Given the description of an element on the screen output the (x, y) to click on. 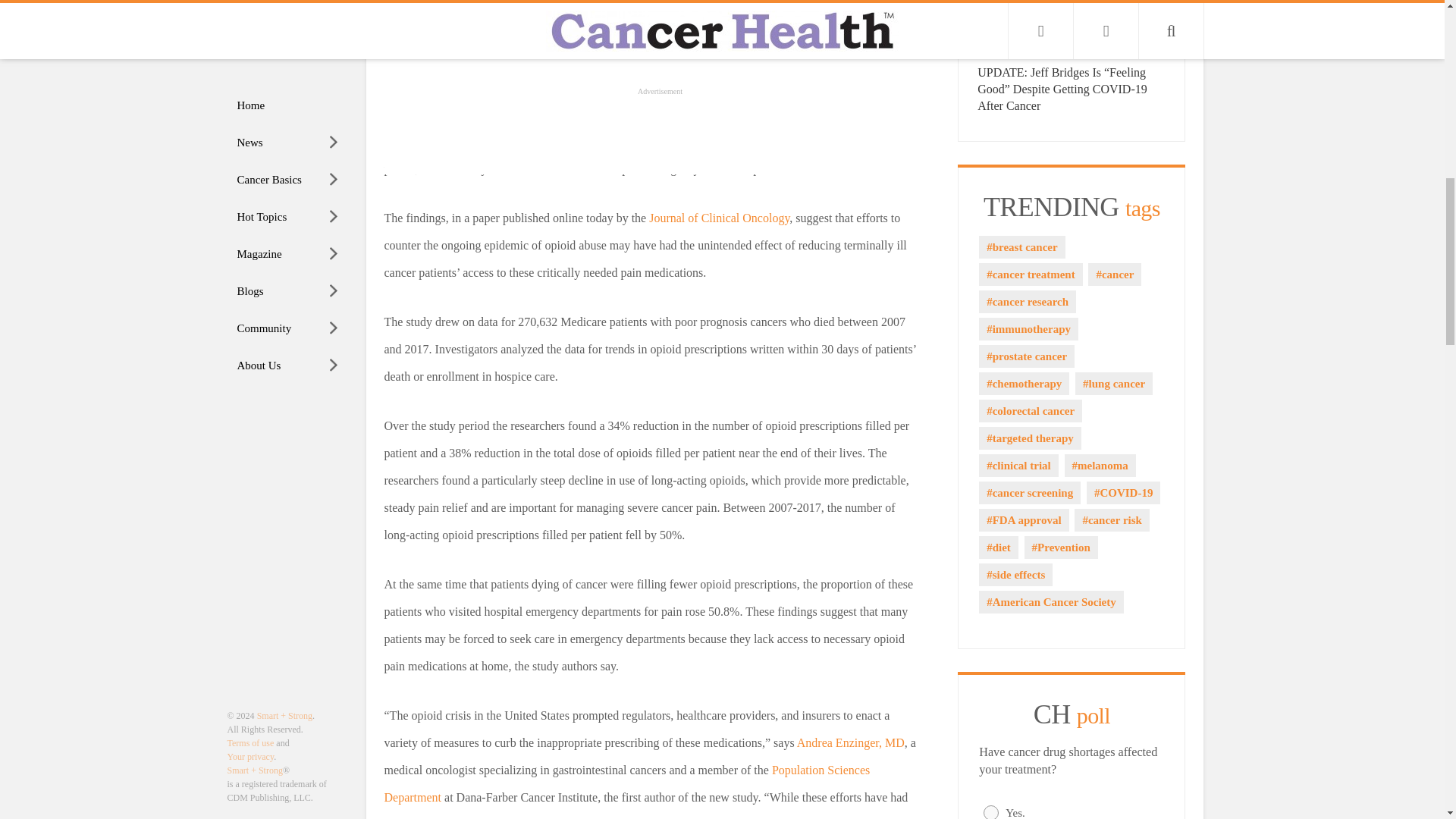
3rd party ad content (651, 34)
